Given the description of an element on the screen output the (x, y) to click on. 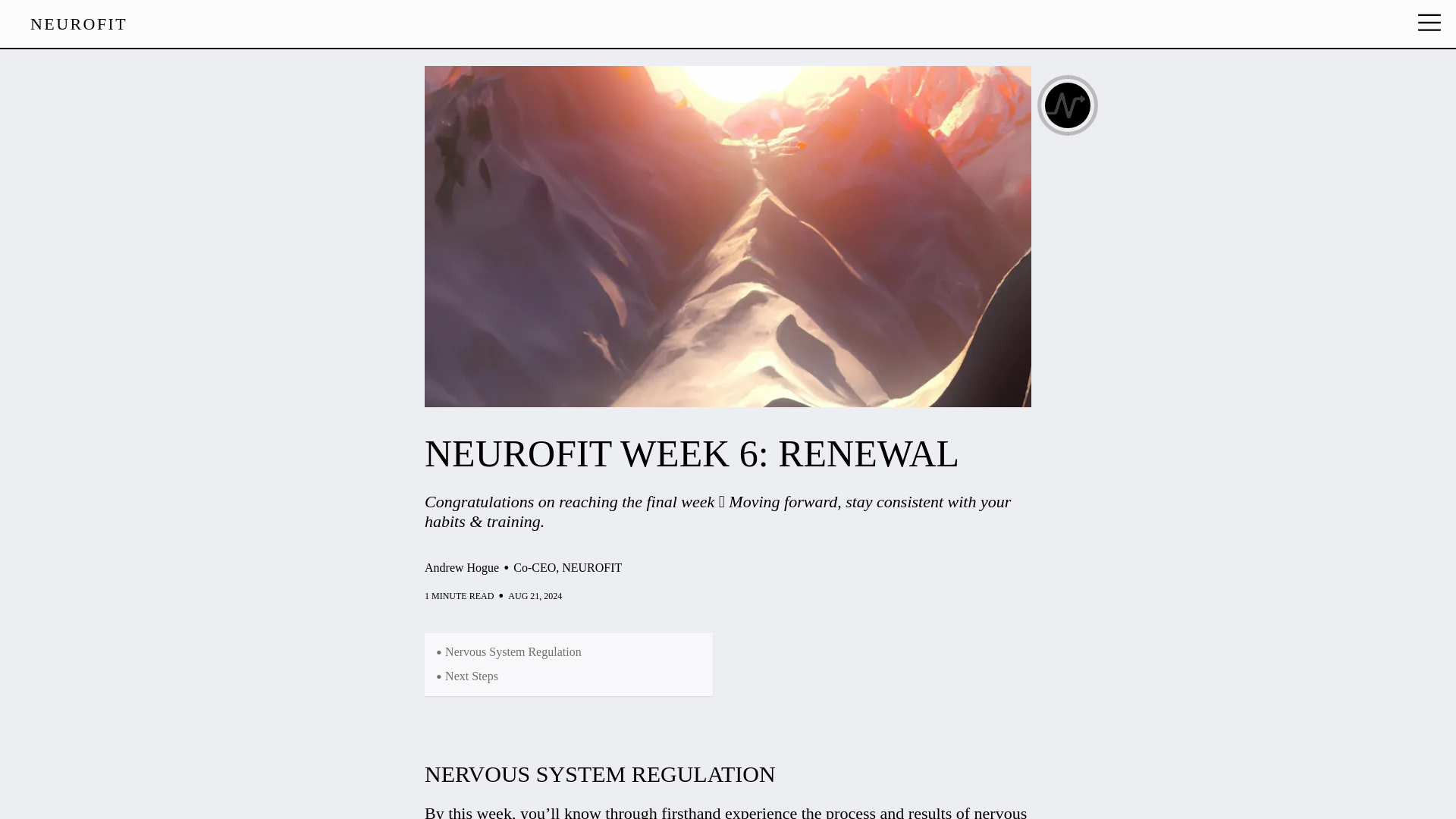
Nervous System Regulation (512, 652)
Next Steps (471, 676)
Andrew Hogue (462, 567)
